Given the description of an element on the screen output the (x, y) to click on. 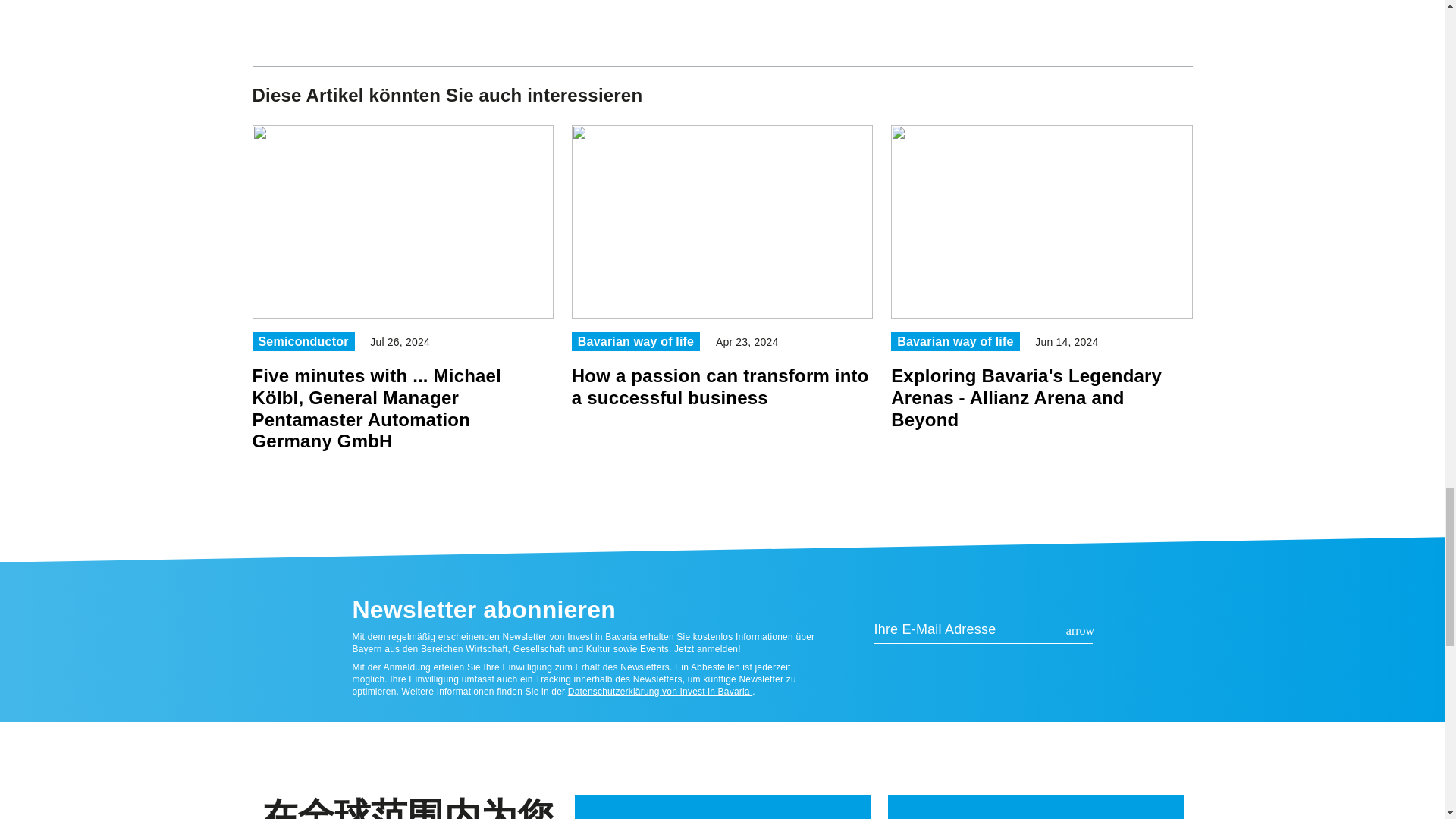
arrow (1079, 630)
